Given the description of an element on the screen output the (x, y) to click on. 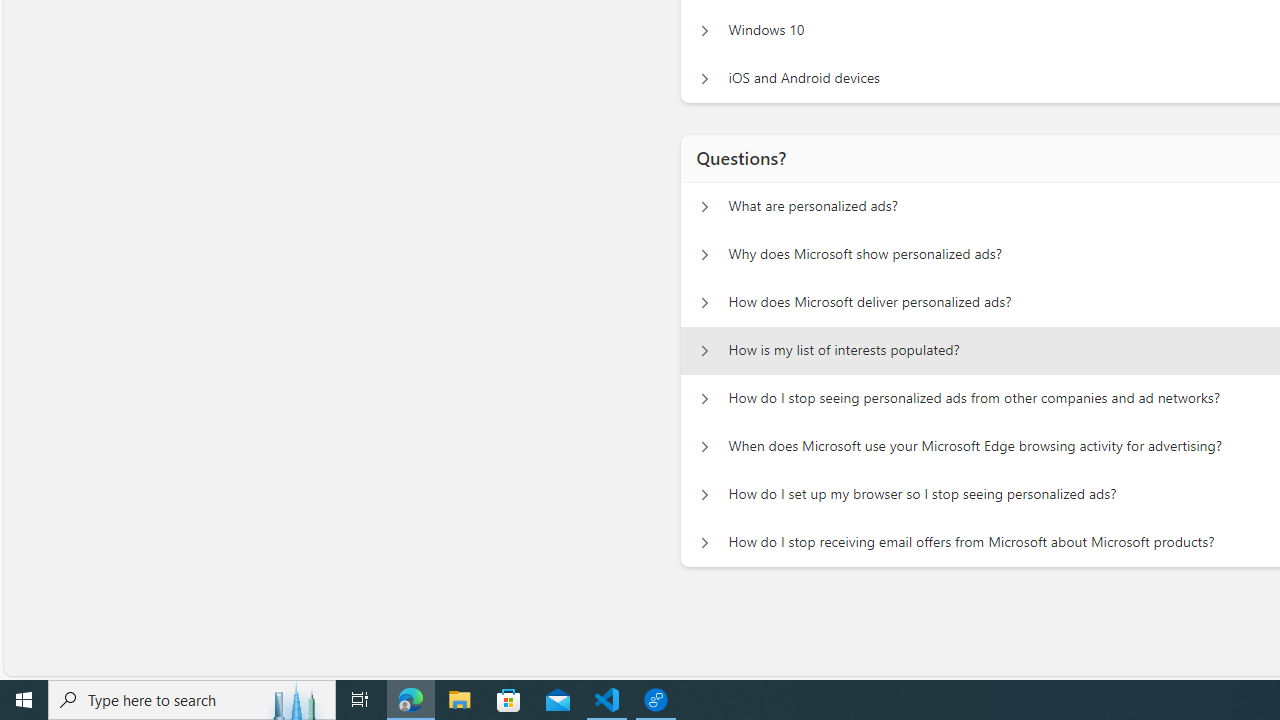
Questions? How does Microsoft deliver personalized ads? (704, 302)
Questions? Why does Microsoft show personalized ads? (704, 255)
Questions? How is my list of interests populated? (704, 350)
Questions? What are personalized ads? (704, 206)
Manage personalized ads on your device Windows 10 (704, 30)
